Given the description of an element on the screen output the (x, y) to click on. 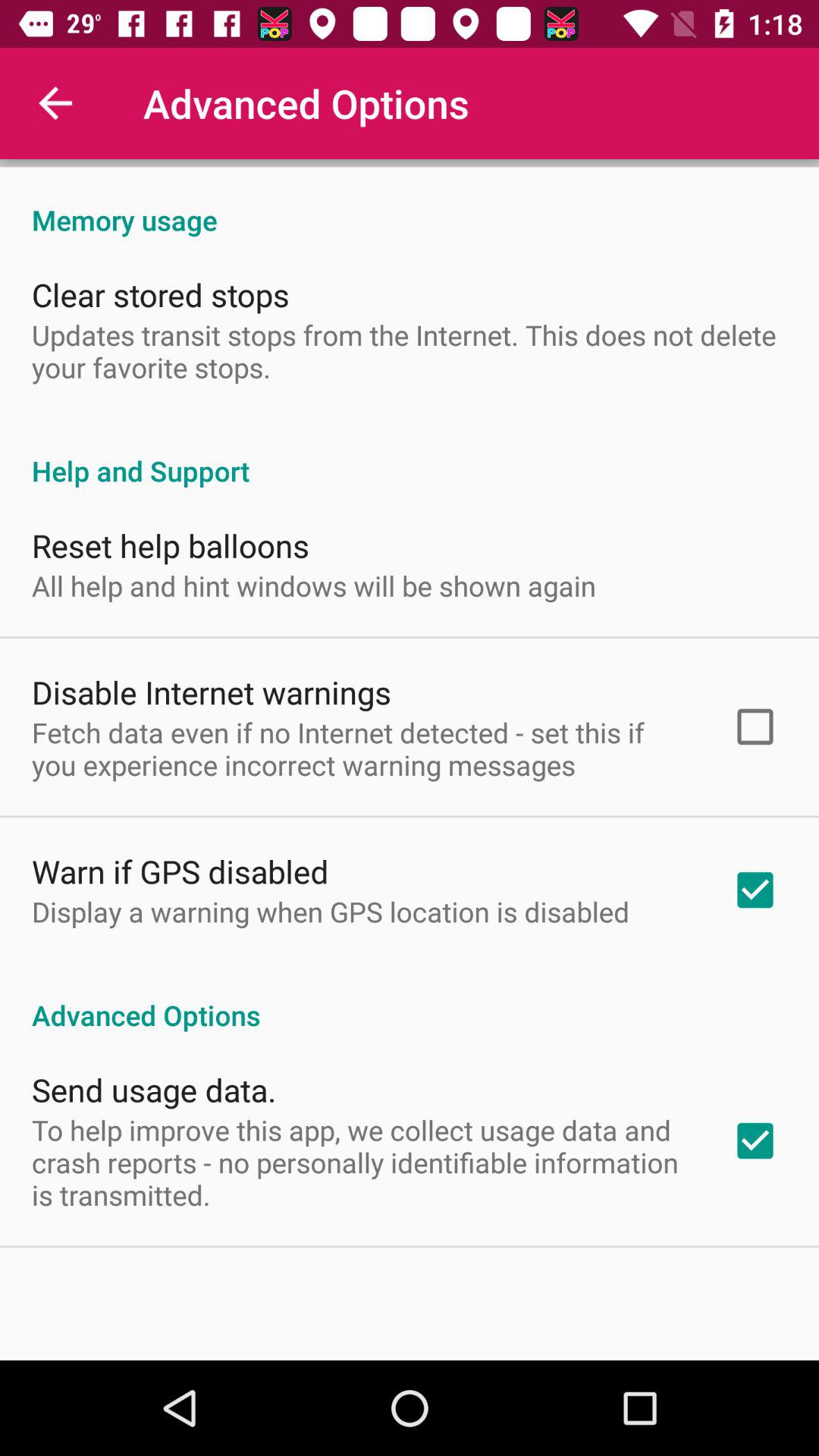
choose item below clear stored stops item (409, 351)
